Given the description of an element on the screen output the (x, y) to click on. 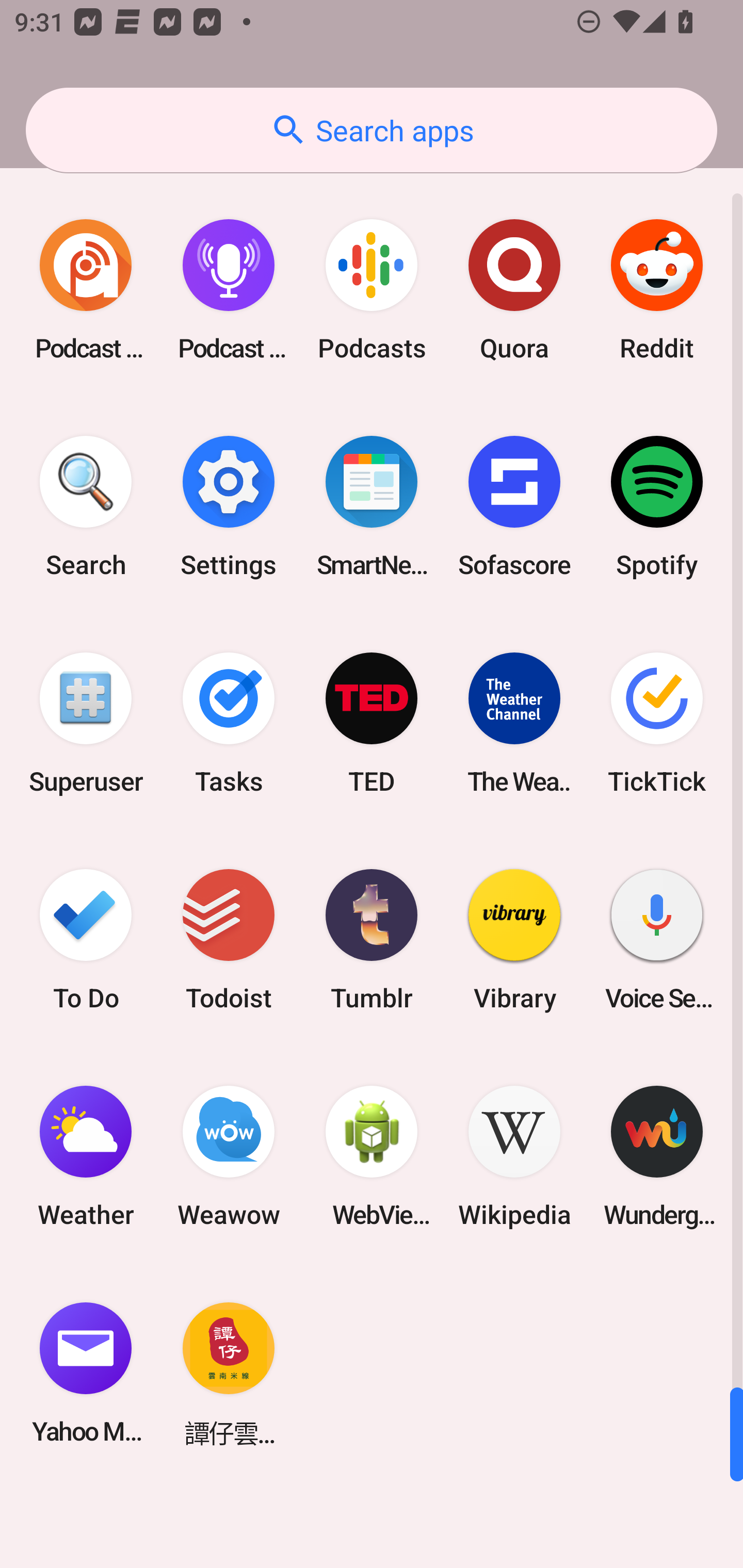
  Search apps (371, 130)
Podcast Addict (85, 289)
Podcast Player (228, 289)
Podcasts (371, 289)
Quora (514, 289)
Reddit (656, 289)
Search (85, 506)
Settings (228, 506)
SmartNews (371, 506)
Sofascore (514, 506)
Spotify (656, 506)
Superuser (85, 722)
Tasks (228, 722)
TED (371, 722)
The Weather Channel (514, 722)
TickTick (656, 722)
To Do (85, 939)
Todoist (228, 939)
Tumblr (371, 939)
Vibrary (514, 939)
Voice Search (656, 939)
Weather (85, 1156)
Weawow (228, 1156)
WebView Browser Tester (371, 1156)
Wikipedia (514, 1156)
Wunderground (656, 1156)
Yahoo Mail (85, 1373)
譚仔雲南米線 (228, 1373)
